Given the description of an element on the screen output the (x, y) to click on. 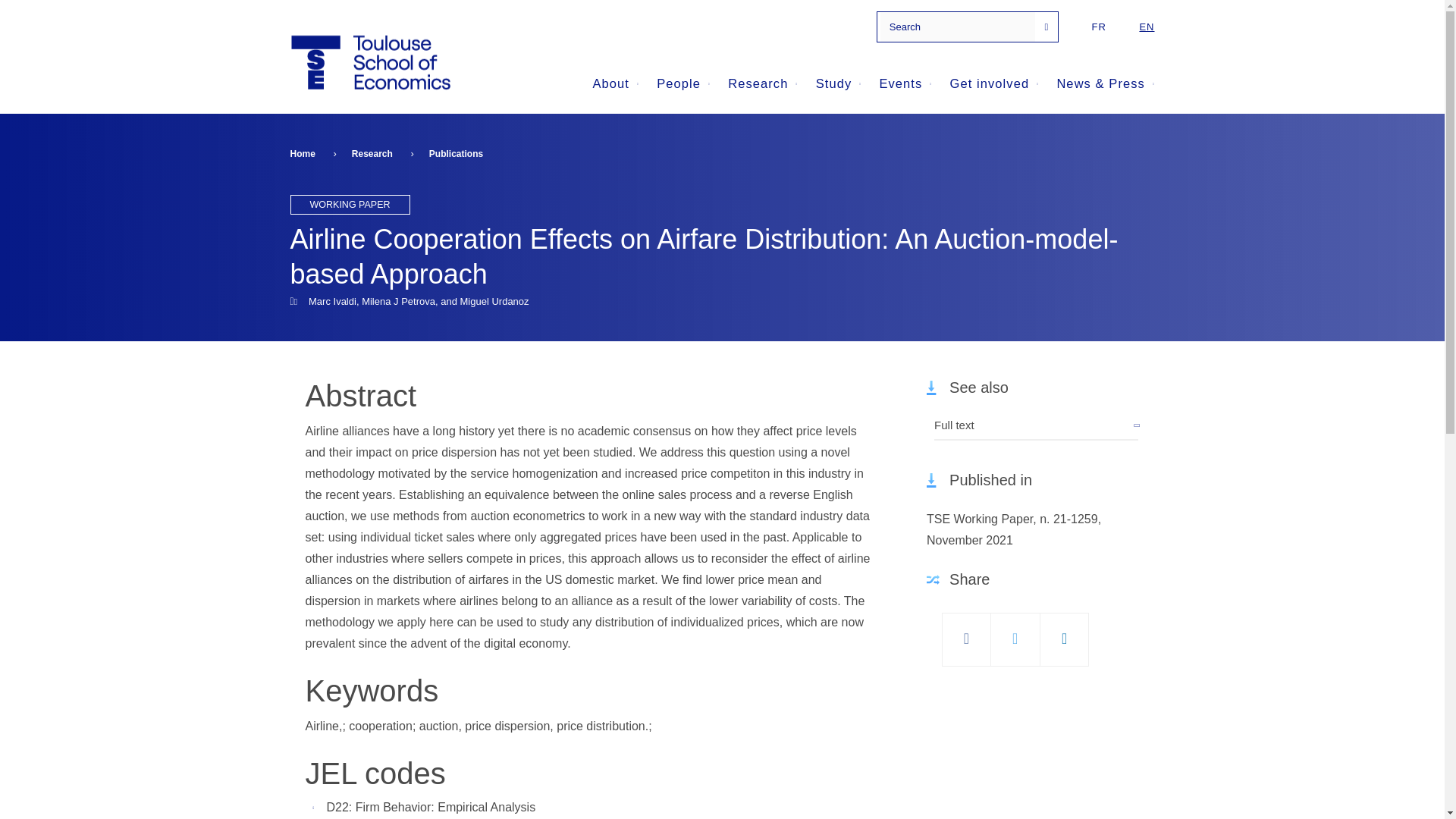
Twitter (1015, 632)
Research (762, 83)
Search (1054, 26)
Get involved (994, 83)
Facebook (966, 632)
Research (762, 83)
FR (1098, 26)
Enter the terms you wish to search for. (957, 26)
Linkedin (1065, 632)
Home (368, 62)
Search (1054, 26)
EN (1139, 26)
